Given the description of an element on the screen output the (x, y) to click on. 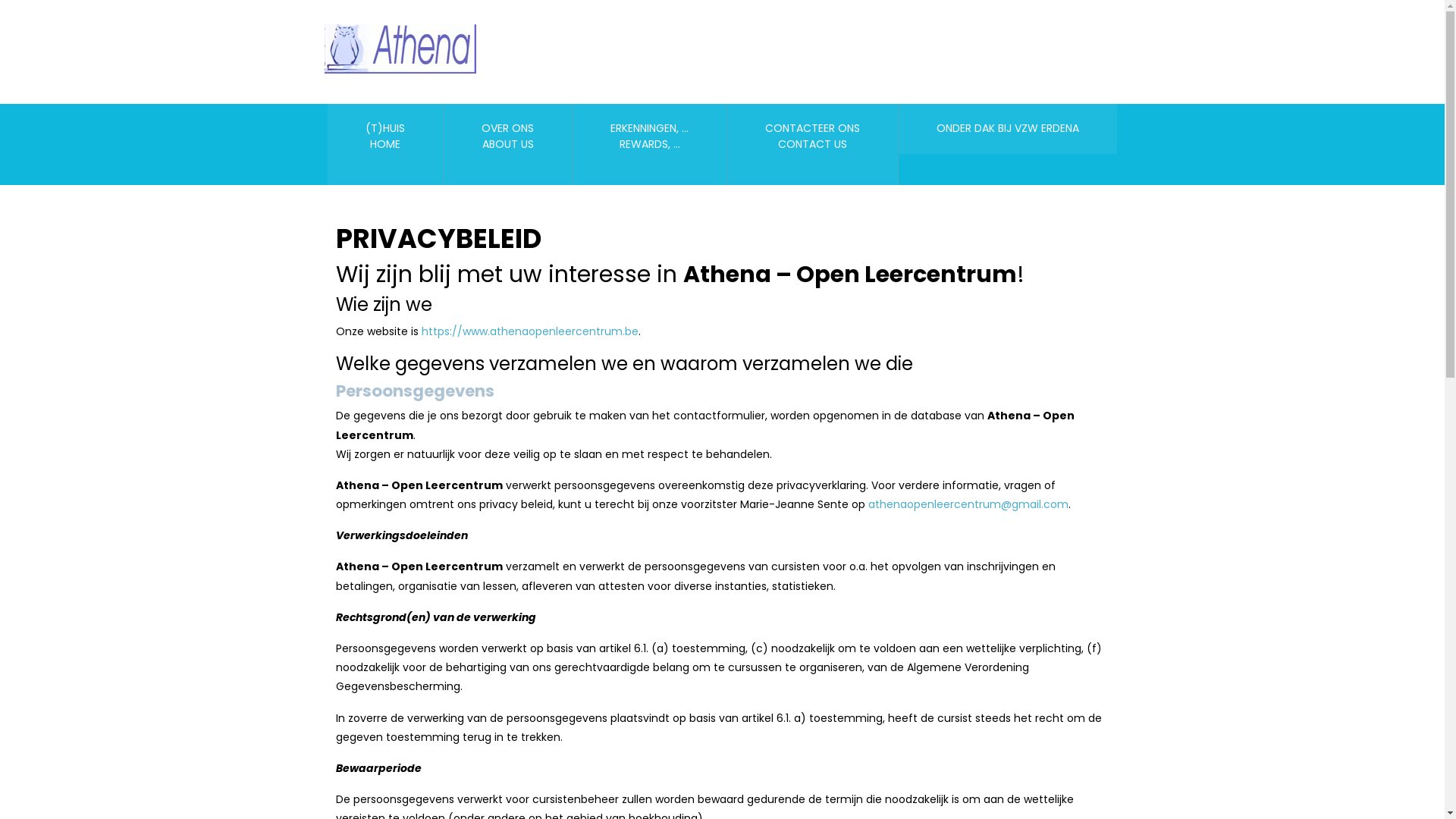
(T)HUIS
HOME Element type: text (384, 144)
athenaopenleercentrum@gmail.com Element type: text (967, 503)
ONDER DAK BIJ VZW ERDENA Element type: text (1007, 128)
https://www.athenaopenleercentrum.be Element type: text (529, 330)
OVER ONS
ABOUT US Element type: text (507, 144)
CONTACTEER ONS
CONTACT US Element type: text (812, 144)
